Given the description of an element on the screen output the (x, y) to click on. 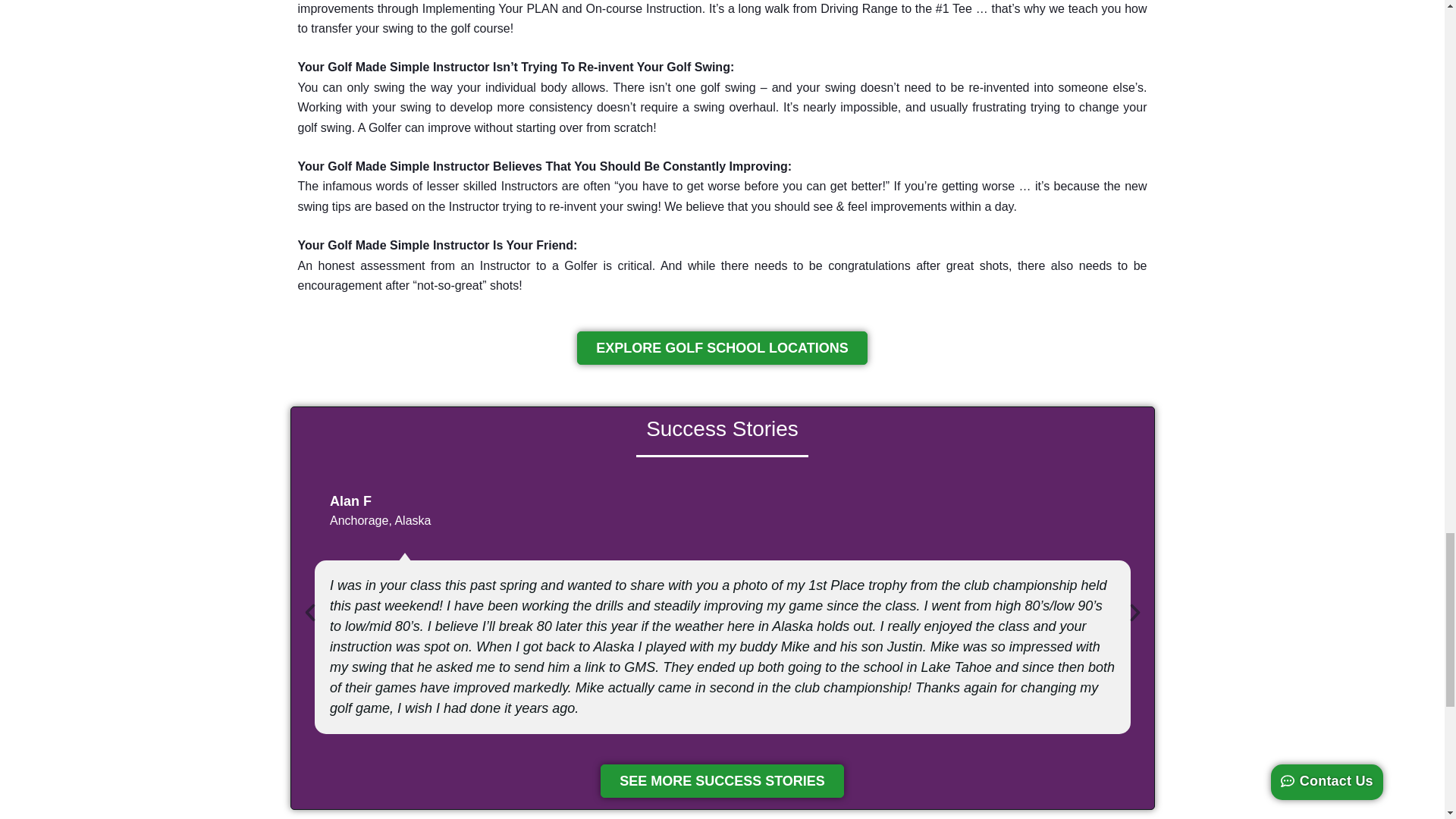
EXPLORE GOLF SCHOOL LOCATIONS (721, 347)
SEE MORE SUCCESS STORIES (721, 780)
